Given the description of an element on the screen output the (x, y) to click on. 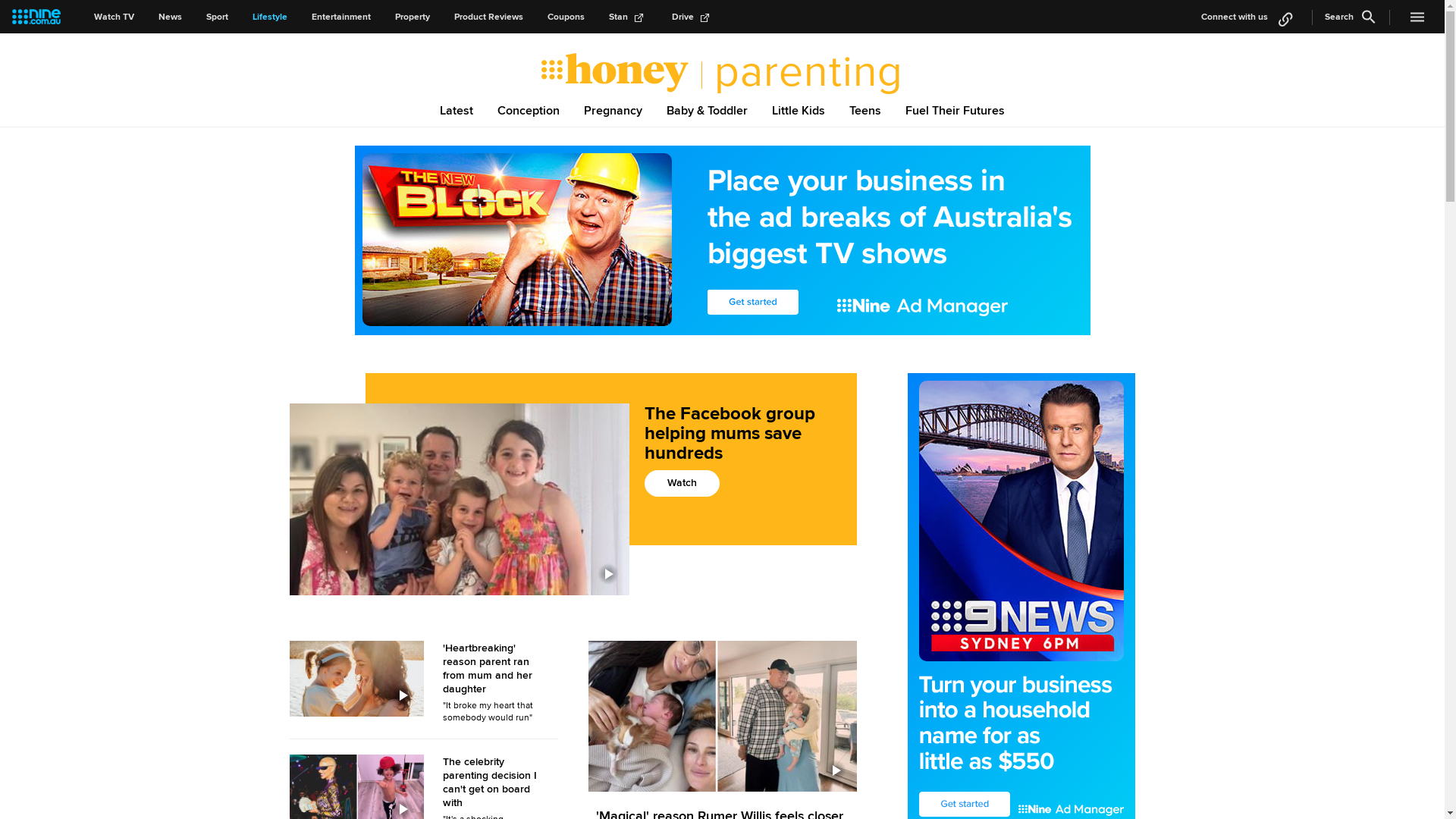
News Element type: text (170, 16)
Stan Element type: text (627, 16)
Baby & Toddler Element type: text (706, 109)
Entertainment Element type: text (340, 16)
Coupons Element type: text (565, 16)
Teens Element type: text (865, 109)
Property Element type: text (412, 16)
Pregnancy Element type: text (612, 109)
Watch TV Element type: text (114, 16)
The Facebook group helping mums save hundreds Element type: text (742, 445)
Product Reviews Element type: text (488, 16)
Little Kids Element type: text (798, 109)
3rd party ad content Element type: hover (722, 240)
Lifestyle Element type: text (269, 16)
Watch Element type: text (681, 483)
Sport Element type: text (217, 16)
Latest Element type: text (456, 109)
parenting Element type: text (802, 71)
Fuel Their Futures Element type: text (954, 109)
Drive Element type: text (692, 16)
Conception Element type: text (528, 109)
